Given the description of an element on the screen output the (x, y) to click on. 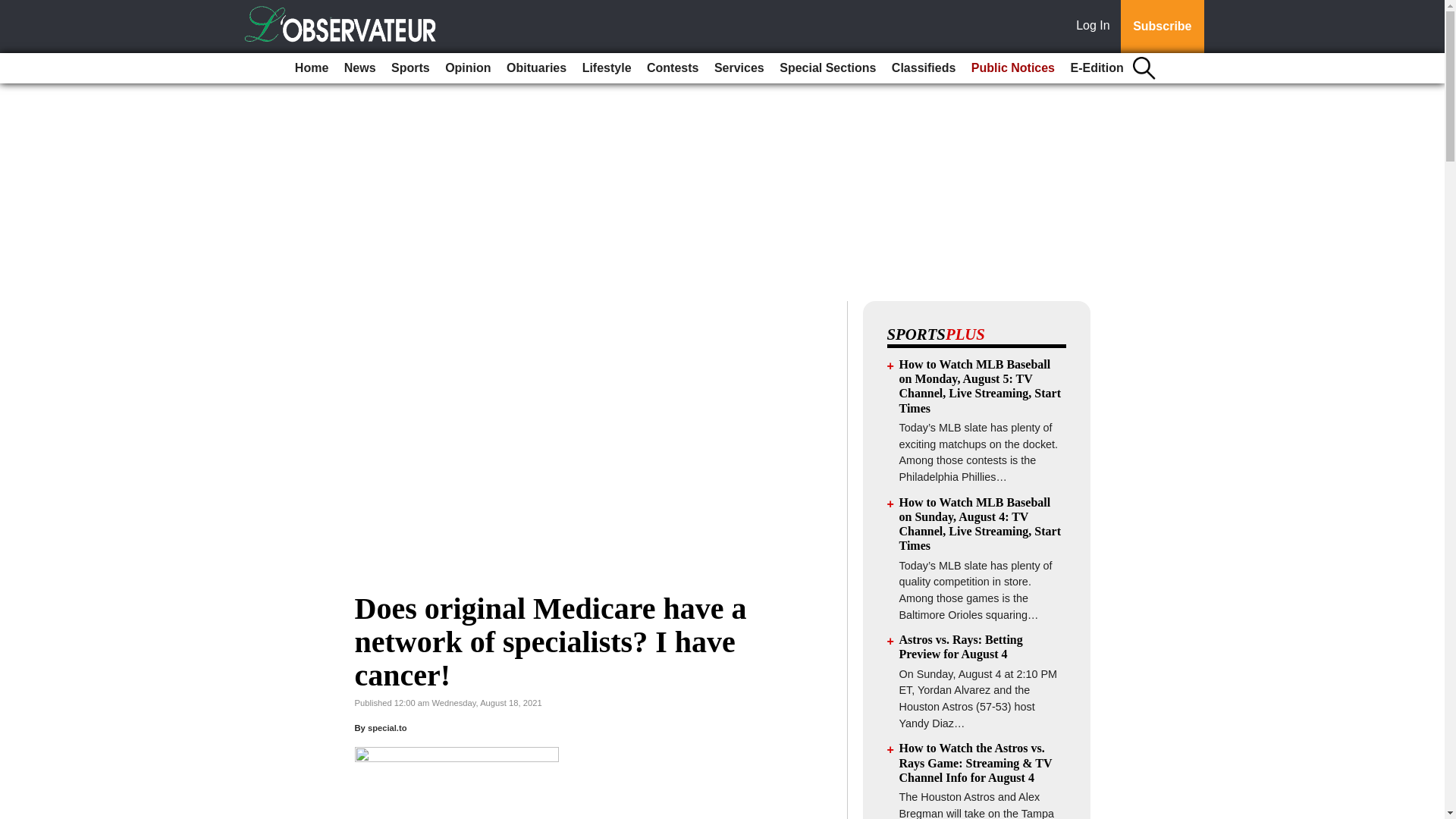
Classifieds (922, 68)
Go (13, 9)
Special Sections (827, 68)
Lifestyle (606, 68)
Home (311, 68)
News (359, 68)
Astros vs. Rays: Betting Preview for August 4 (961, 646)
E-Edition (1096, 68)
Sports (410, 68)
special.to (387, 727)
Obituaries (536, 68)
Opinion (467, 68)
Log In (1095, 26)
